Given the description of an element on the screen output the (x, y) to click on. 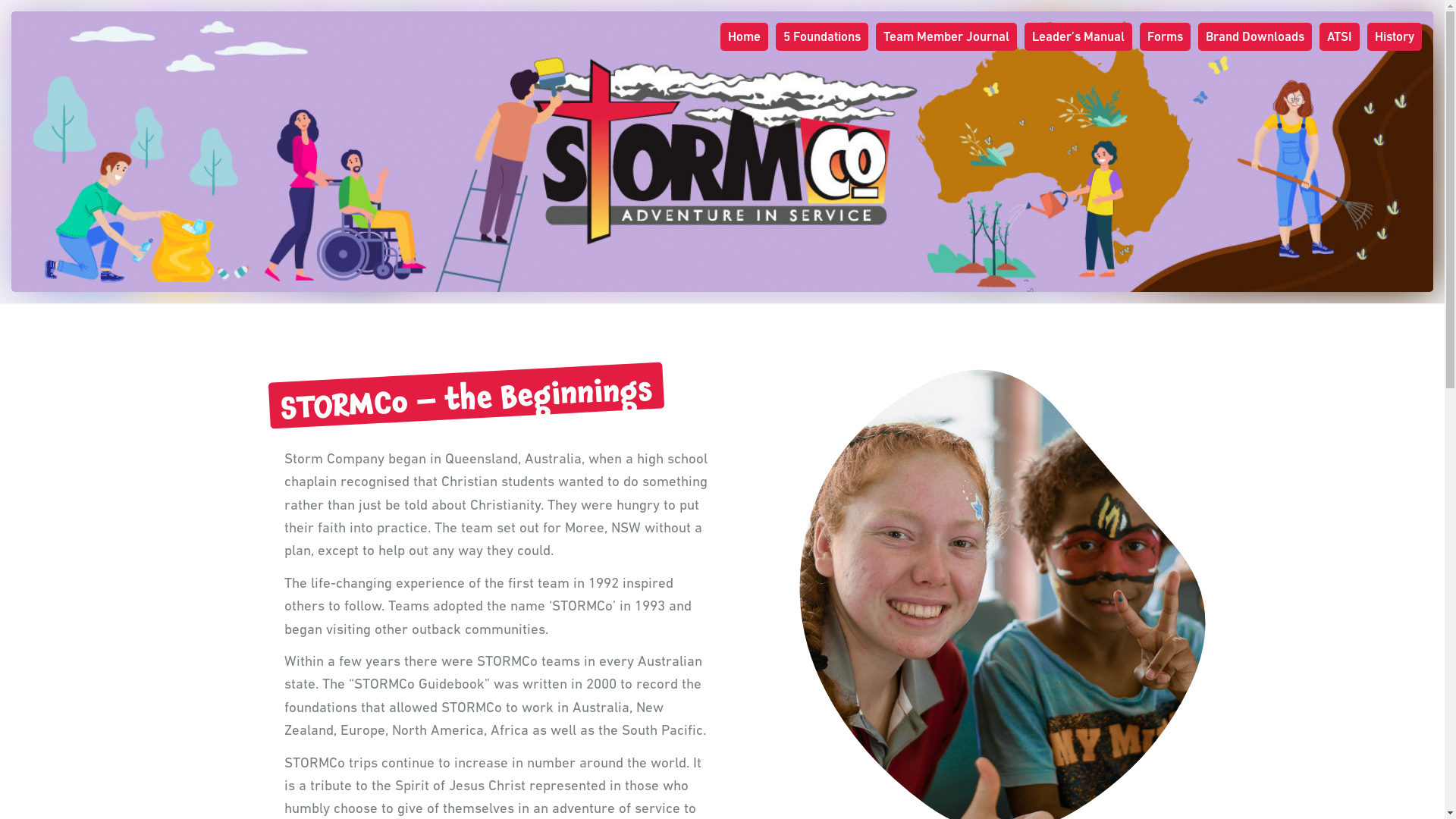
Team Member Journal Element type: text (945, 36)
ATSI Element type: text (1339, 36)
5 Foundations Element type: text (821, 36)
Brand Downloads Element type: text (1254, 36)
History Element type: text (1394, 36)
Home Element type: text (744, 36)
Forms Element type: text (1164, 36)
